Given the description of an element on the screen output the (x, y) to click on. 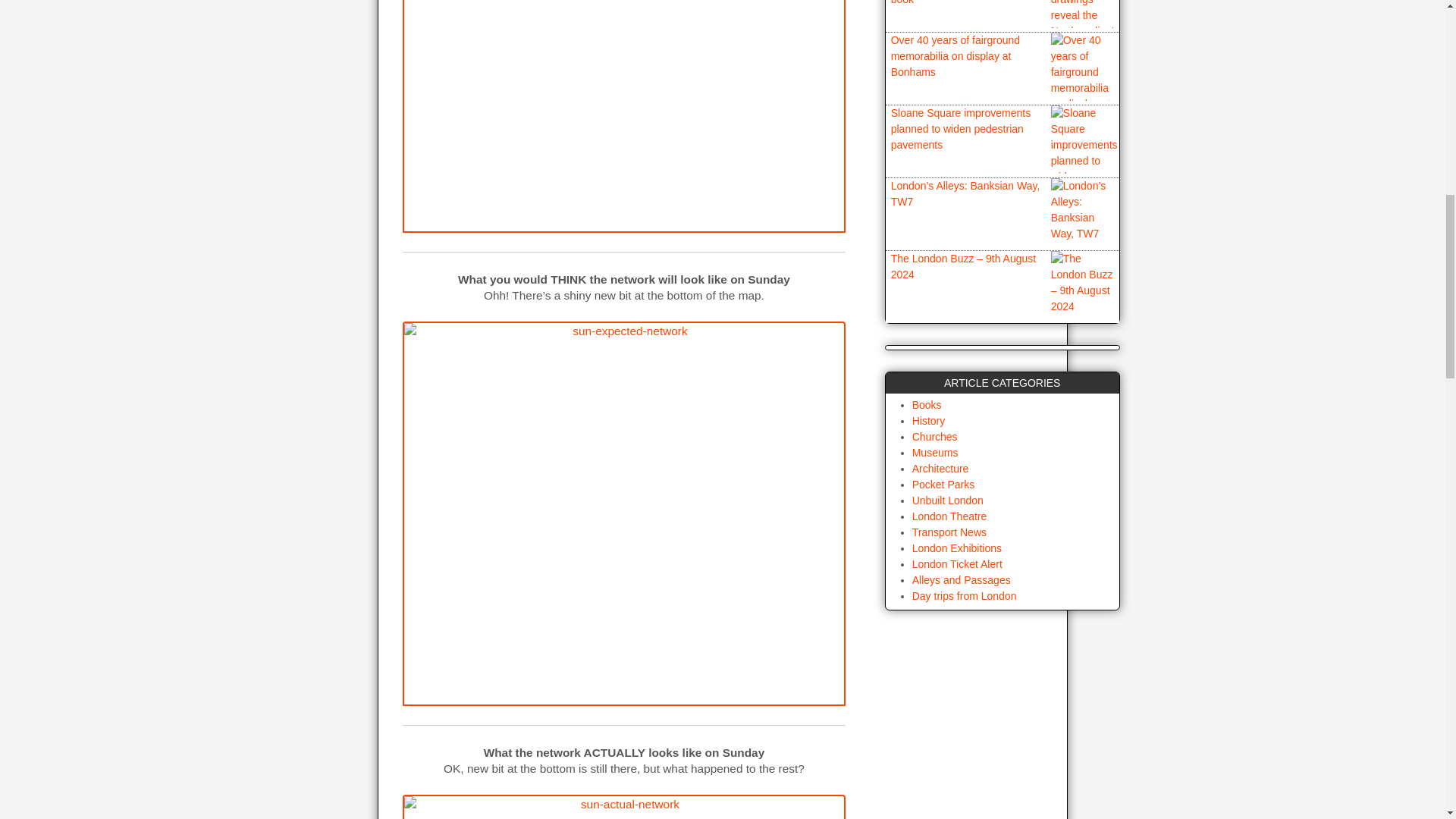
sat network by IanVisits, on Flickr (623, 116)
sun-actual-network by IanVisits, on Flickr (623, 806)
